Given the description of an element on the screen output the (x, y) to click on. 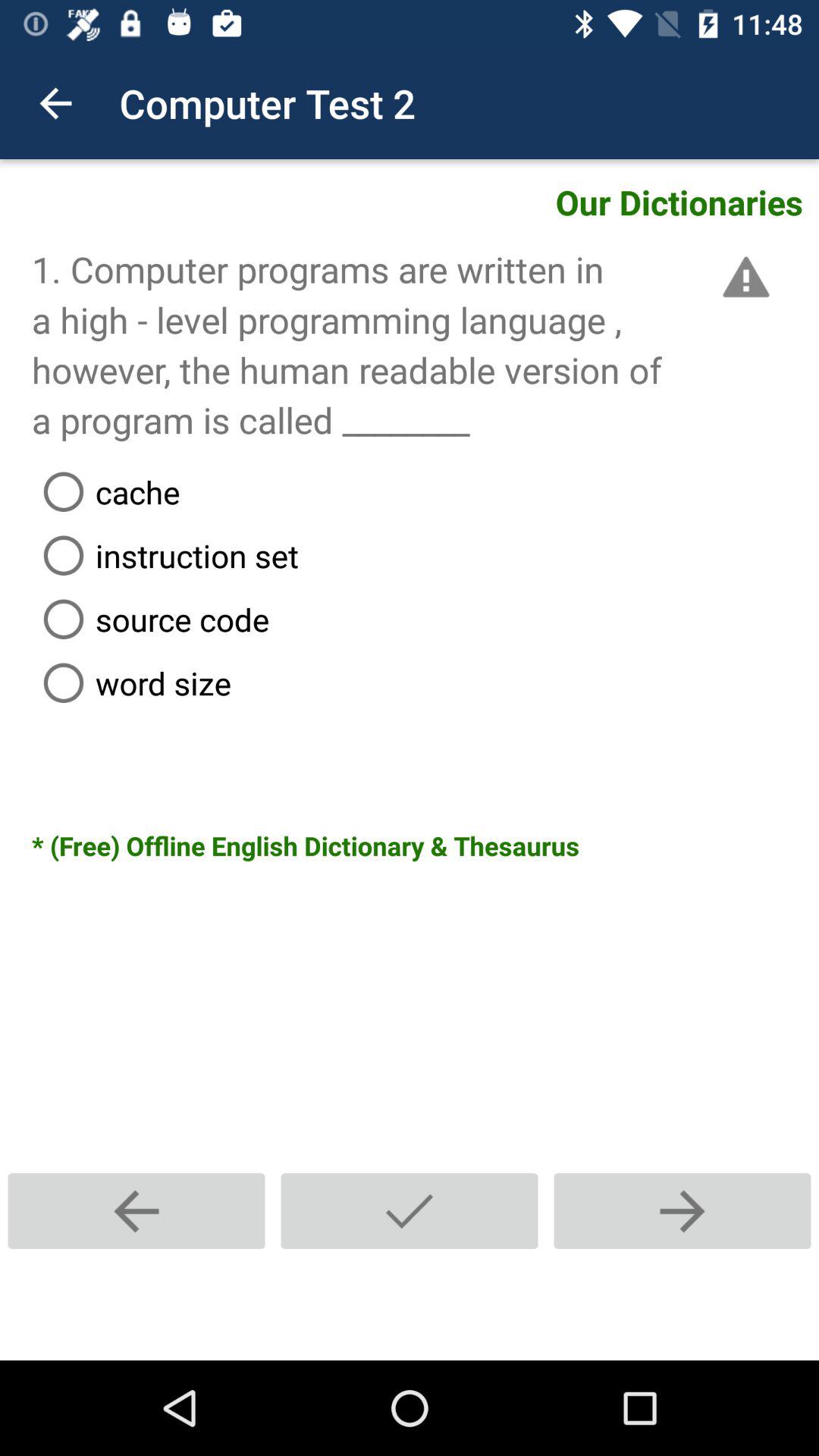
click the item below free offline english item (682, 1210)
